Given the description of an element on the screen output the (x, y) to click on. 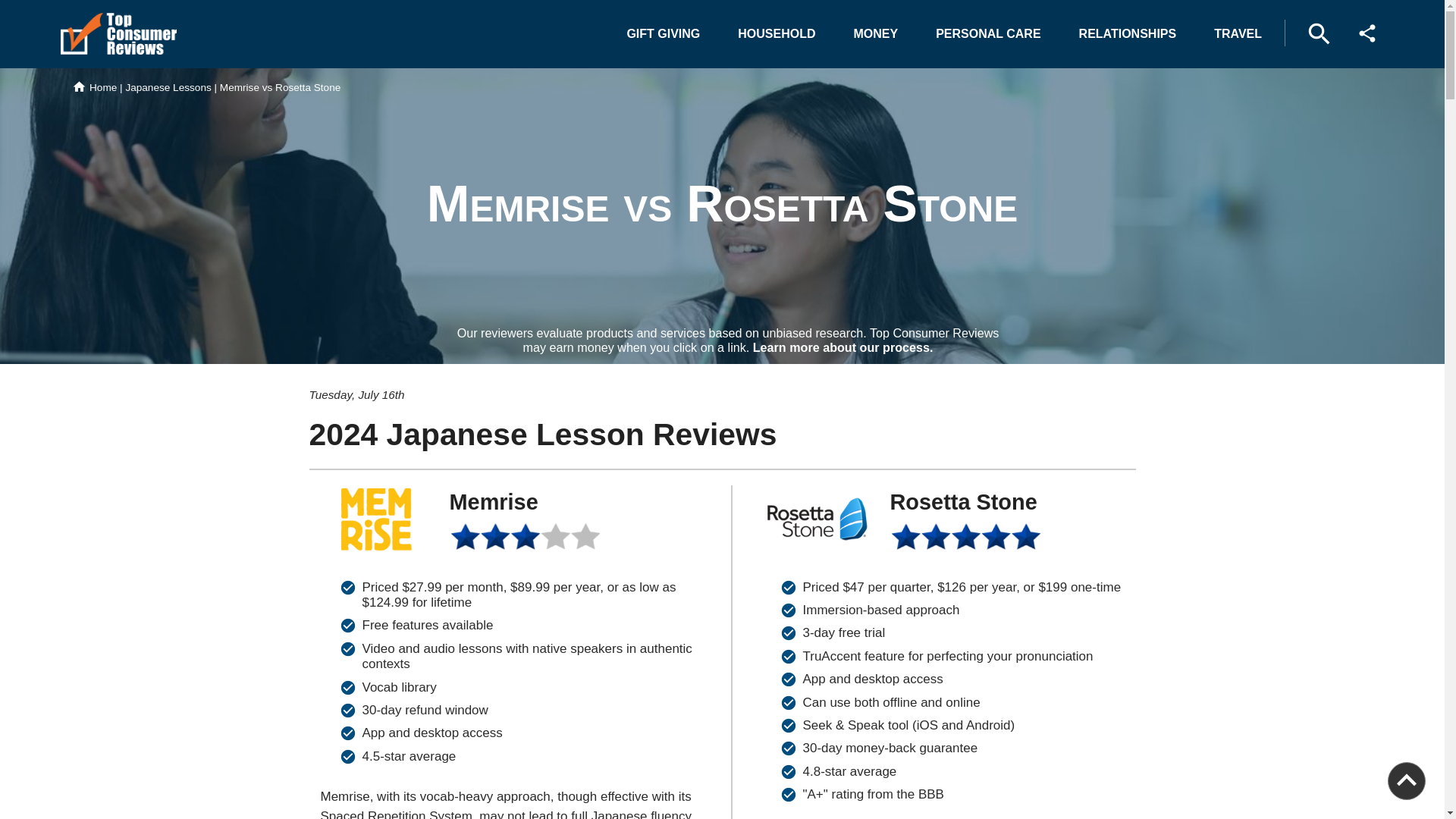
MONEY (876, 33)
Share Top Consumer Reviews (1367, 32)
GIFT GIVING (662, 33)
RELATIONSHIPS (1128, 33)
HOUSEHOLD (775, 33)
Search Top Consumer Reviews (1318, 33)
PERSONAL CARE (987, 33)
TRAVEL (1237, 33)
